Given the description of an element on the screen output the (x, y) to click on. 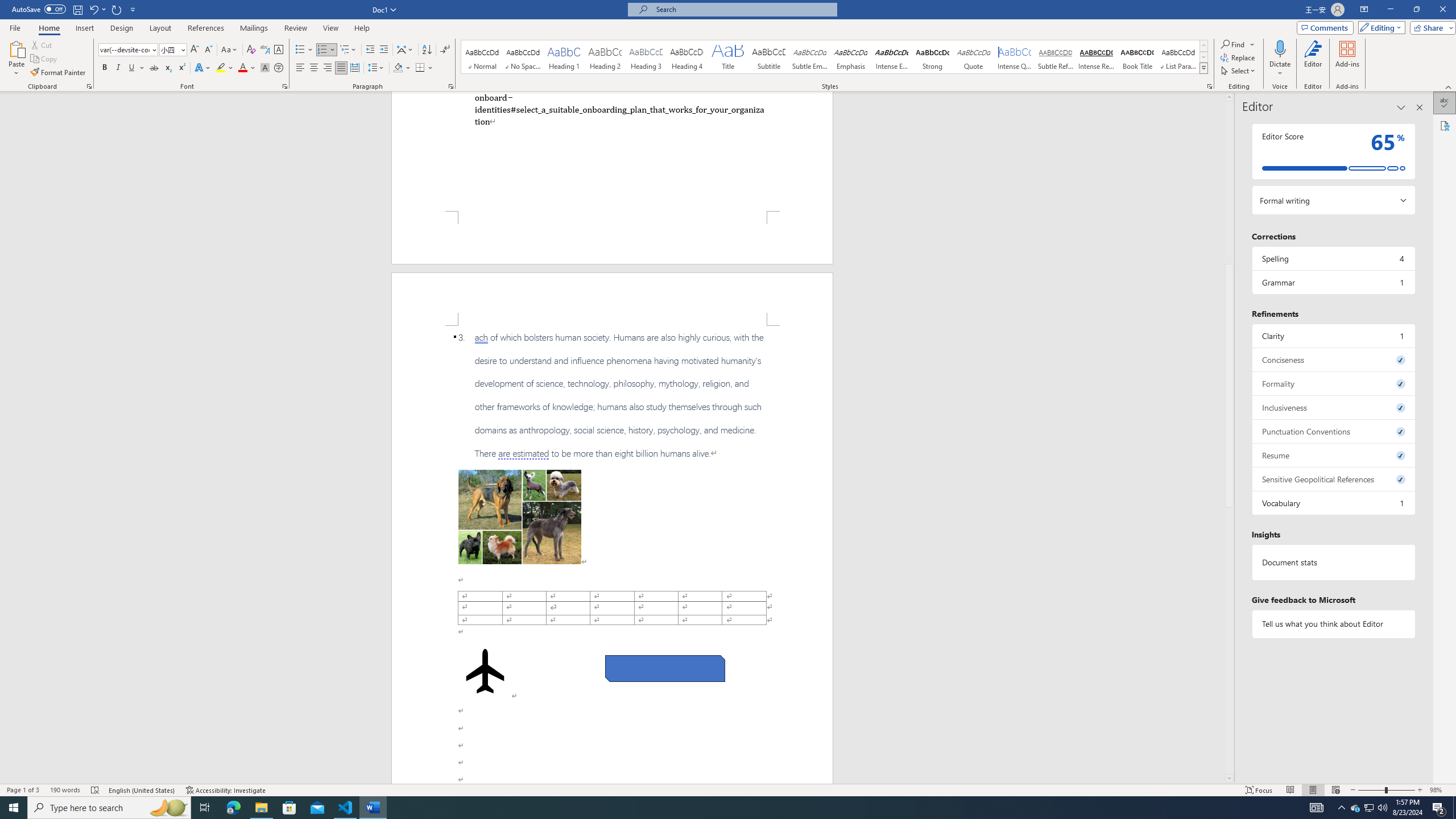
Subtle Reference (1055, 56)
Font Color (246, 67)
Text Highlight Color Yellow (220, 67)
Comments (1325, 27)
Align Left (300, 67)
Paste (16, 58)
3. (611, 395)
Book Title (1136, 56)
Layout (160, 28)
Bullets (300, 49)
Class: NetUIScrollBar (1229, 437)
Superscript (180, 67)
Zoom Out (1371, 790)
Font Size (172, 49)
